Given the description of an element on the screen output the (x, y) to click on. 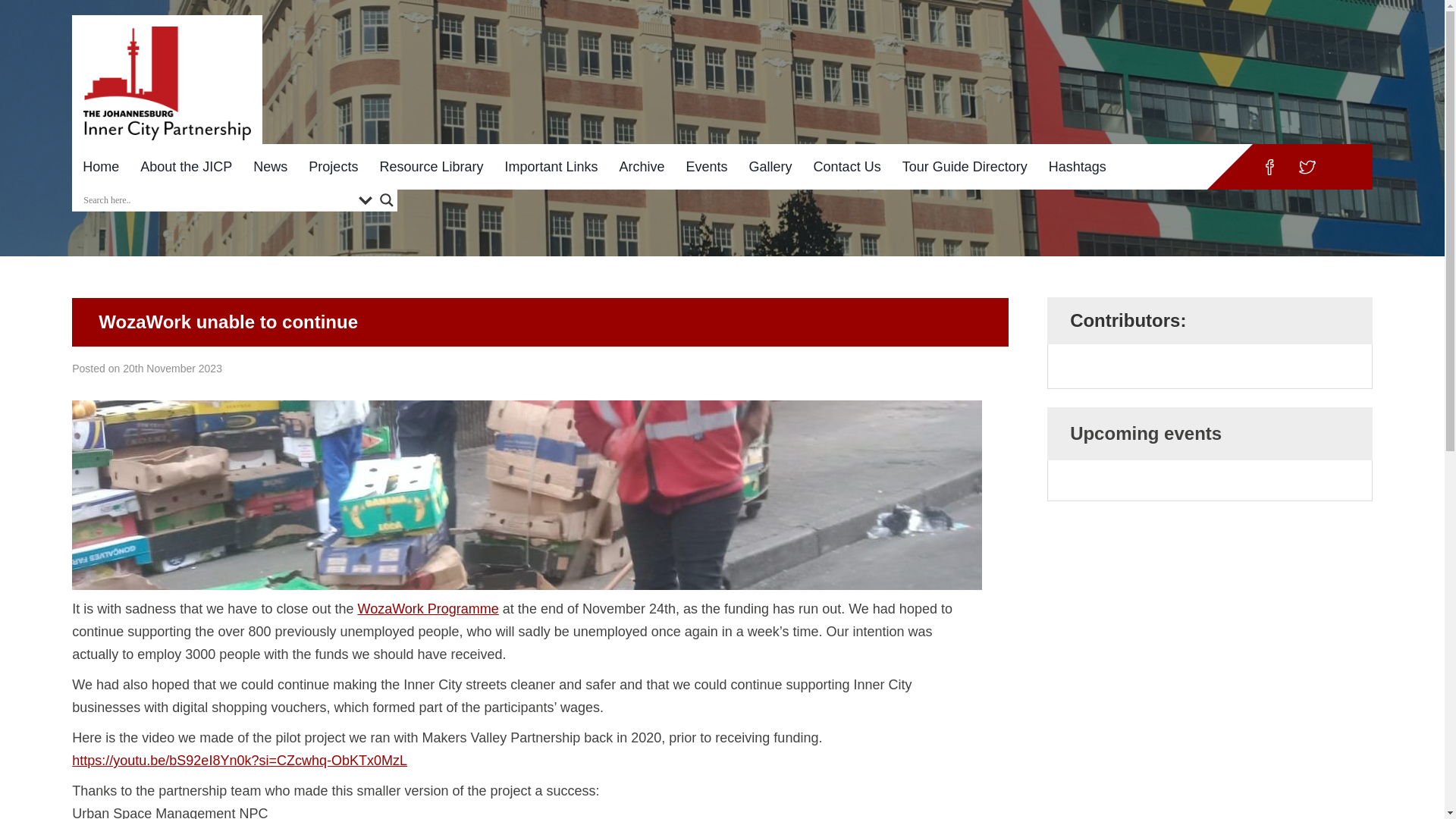
Hashtags (1077, 166)
News (270, 166)
Important Links (550, 166)
Gallery (770, 166)
Resource Library (430, 166)
Archive (641, 166)
The Johannesburg Inner City Partnership (166, 83)
Tour Guide Directory (964, 166)
Home (100, 166)
Events (706, 166)
Contact Us (847, 166)
Projects (333, 166)
About the JICP (186, 166)
The Johannesburg Inner City Partnership (166, 75)
